Given the description of an element on the screen output the (x, y) to click on. 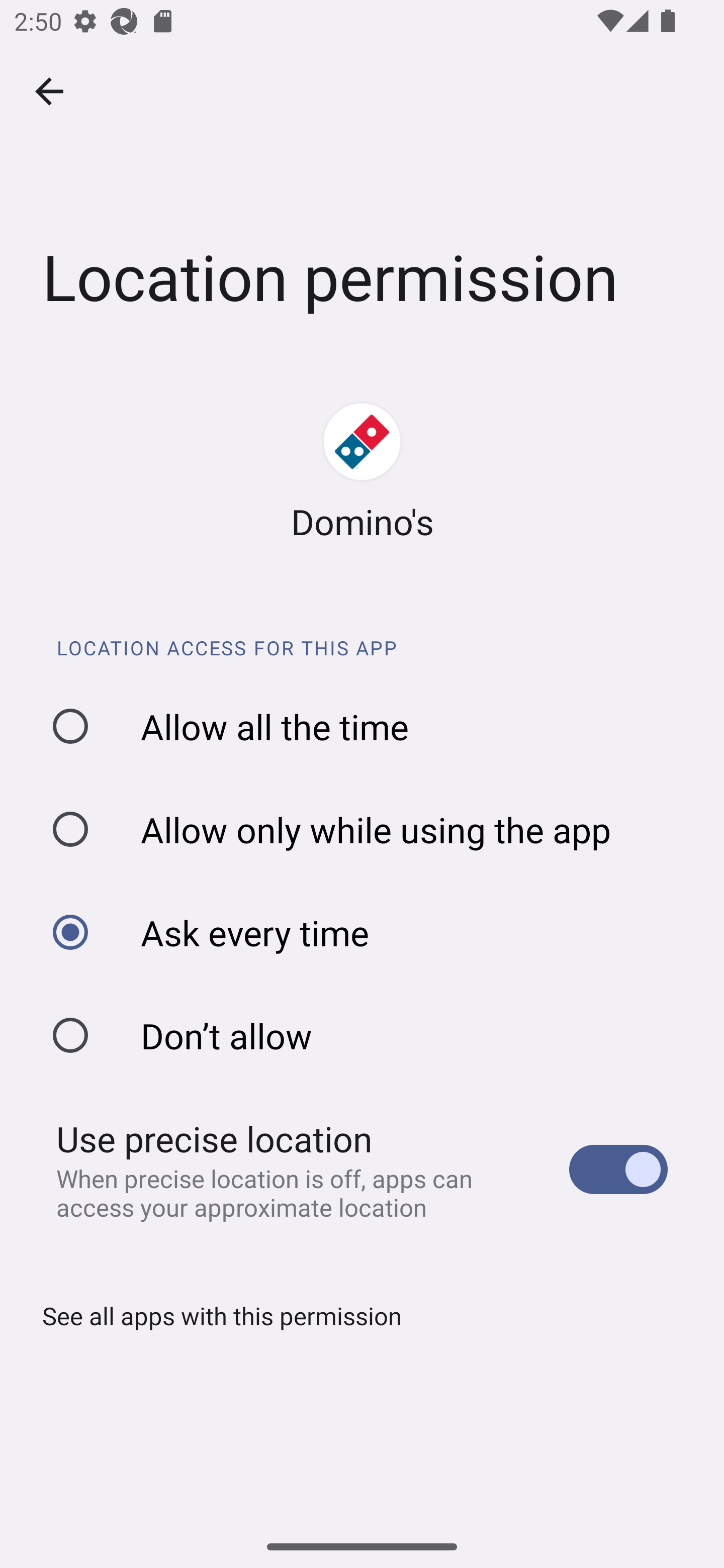
Back (49, 91)
Allow all the time (368, 725)
Allow only while using the app (368, 829)
Ask every time (368, 932)
Don’t allow (368, 1035)
See all apps with this permission (215, 1316)
